Given the description of an element on the screen output the (x, y) to click on. 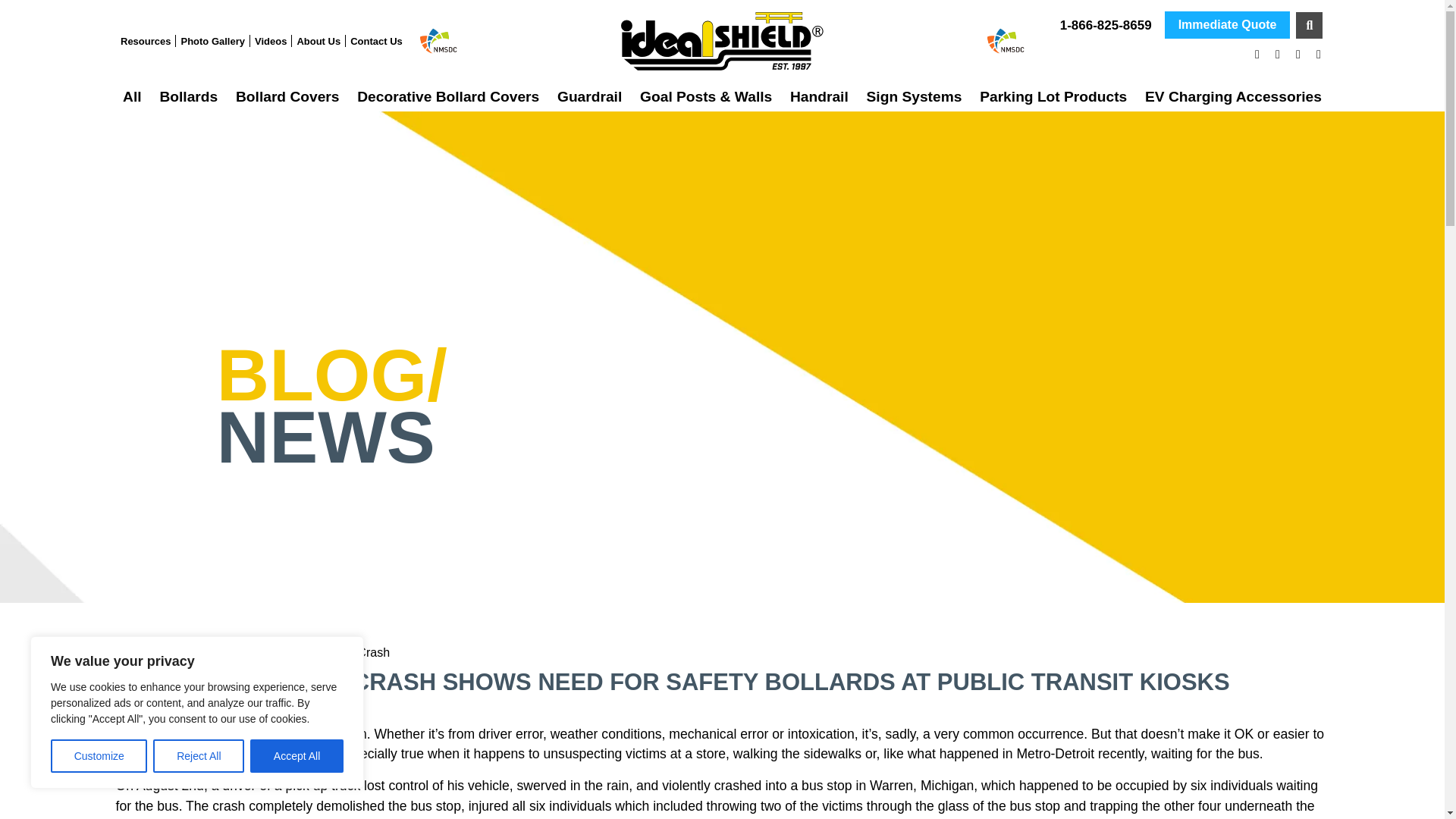
Customize (98, 756)
Reject All (198, 756)
Accept All (296, 756)
